Given the description of an element on the screen output the (x, y) to click on. 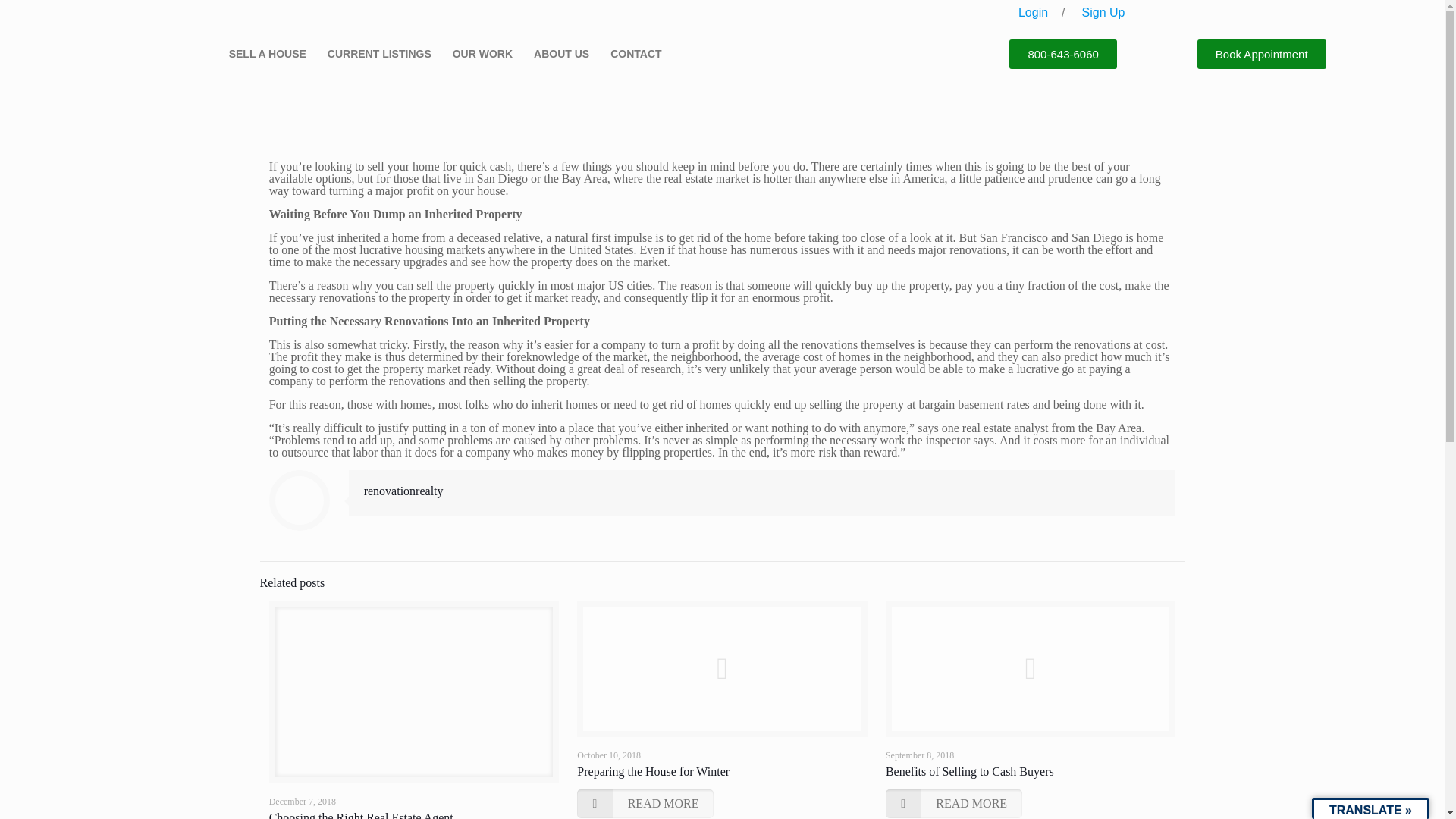
ABOUT US (565, 53)
OUR WORK (486, 53)
CURRENT LISTINGS (382, 53)
CONTACT (636, 53)
800-643-6060 (1062, 53)
Sign Up (1103, 11)
Book Appointment (1261, 53)
SELL A HOUSE (271, 53)
Login (1032, 11)
